Given the description of an element on the screen output the (x, y) to click on. 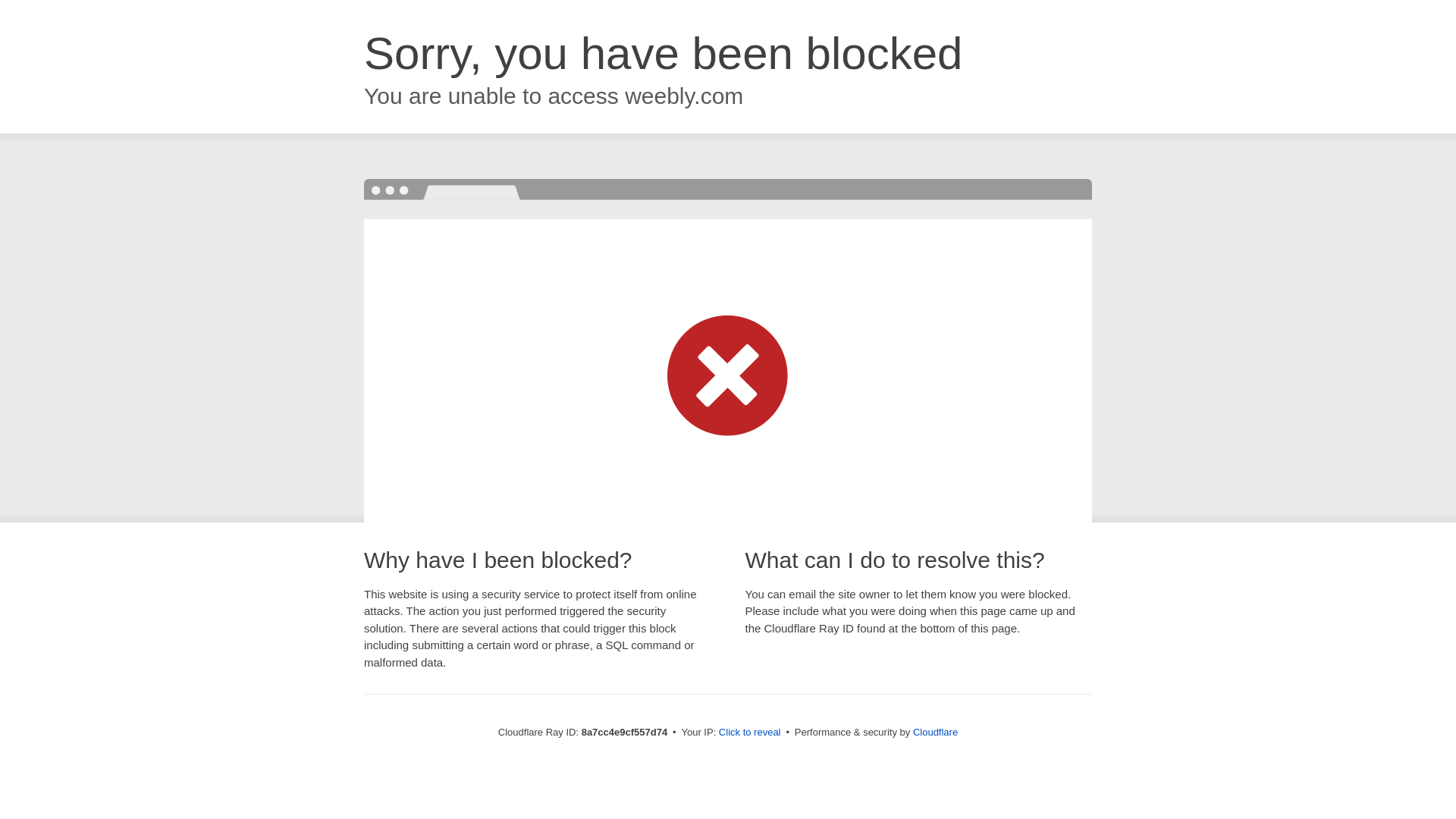
Cloudflare (935, 731)
Click to reveal (749, 732)
